Given the description of an element on the screen output the (x, y) to click on. 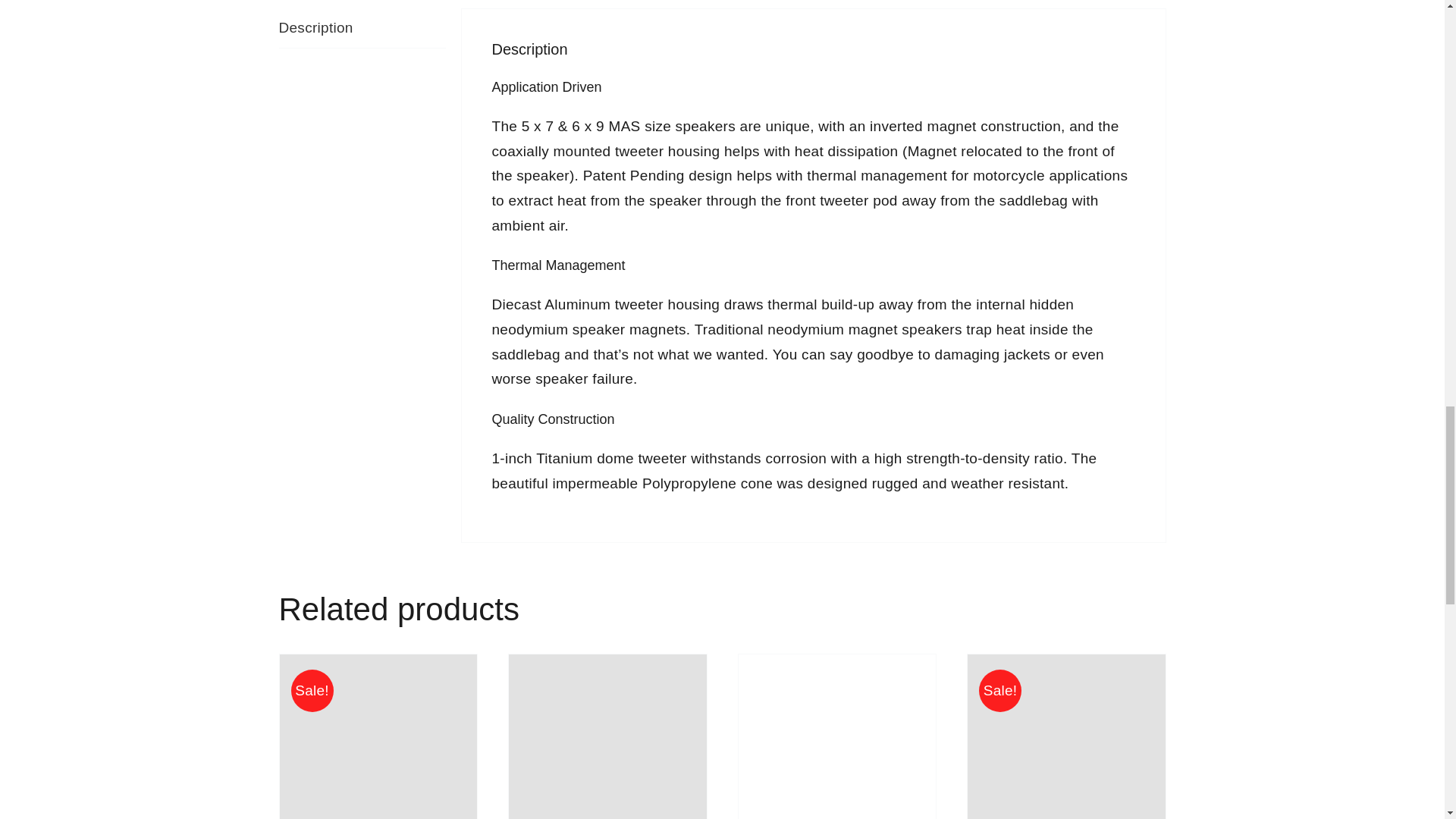
Sale! (378, 736)
Description (362, 28)
Sale! (1067, 736)
